Given the description of an element on the screen output the (x, y) to click on. 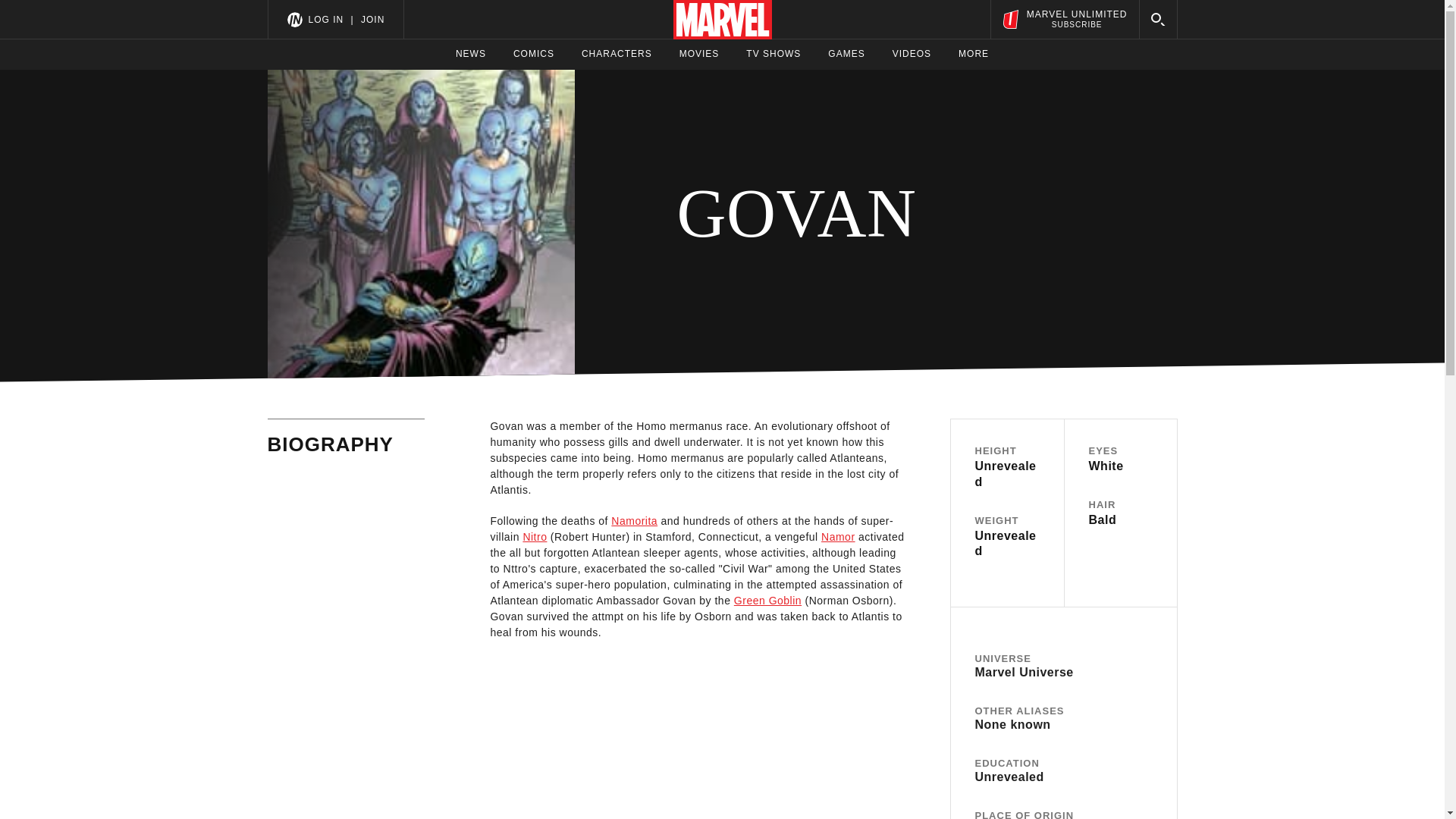
JOIN (372, 18)
LOG IN (325, 18)
TV SHOWS (772, 54)
Green Goblin (767, 600)
NEWS (470, 54)
COMICS (533, 54)
MOVIES (699, 54)
CHARACTERS (616, 54)
GAMES (846, 54)
Namor (838, 536)
